Given the description of an element on the screen output the (x, y) to click on. 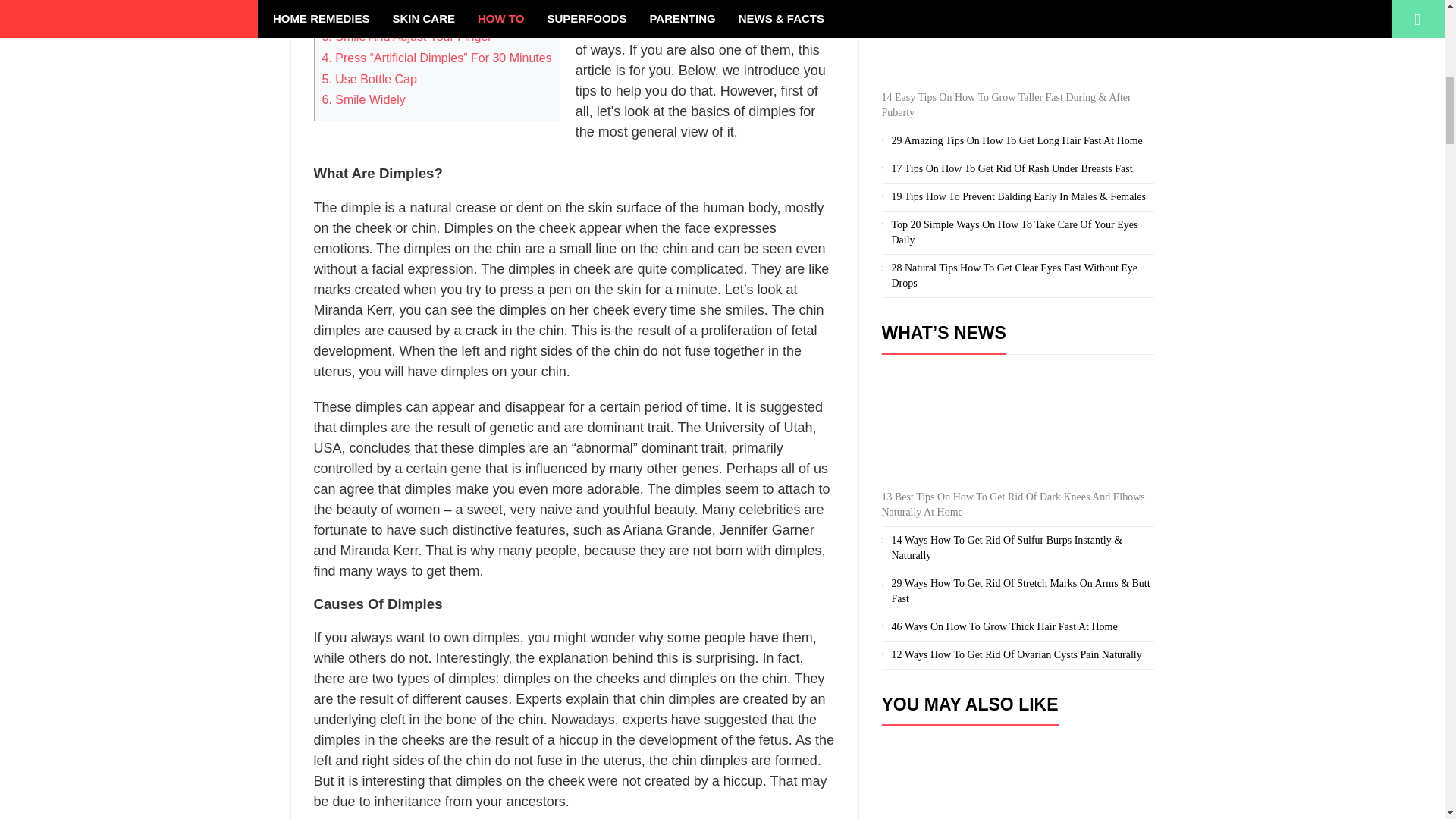
3. Smile And Adjust Your Finger (406, 36)
6. Smile Widely (362, 99)
2. Press And Hold (370, 15)
1. Exercise (351, 0)
5. Use Bottle Cap (368, 78)
